Given the description of an element on the screen output the (x, y) to click on. 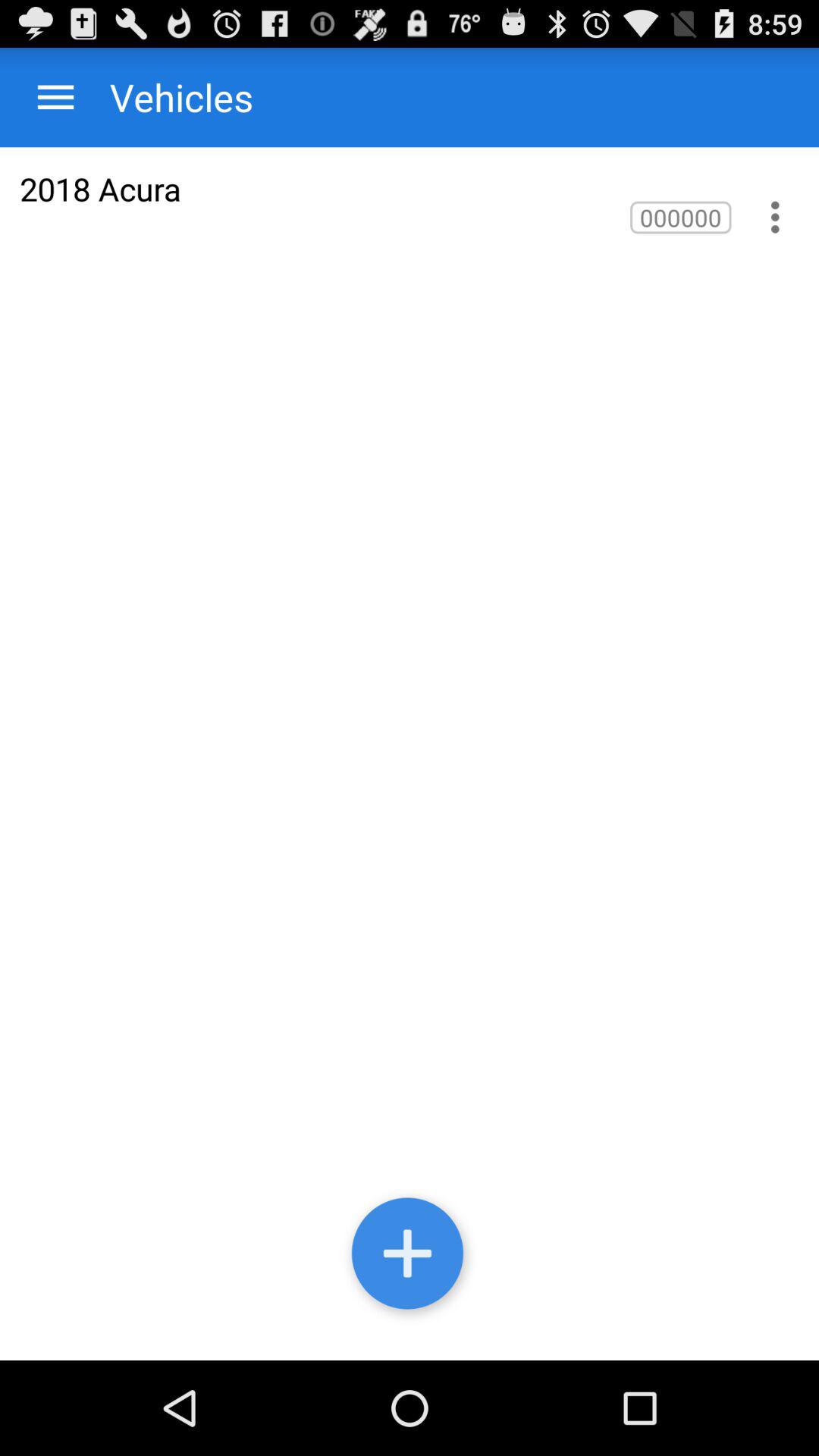
turn off 000000 (680, 217)
